Given the description of an element on the screen output the (x, y) to click on. 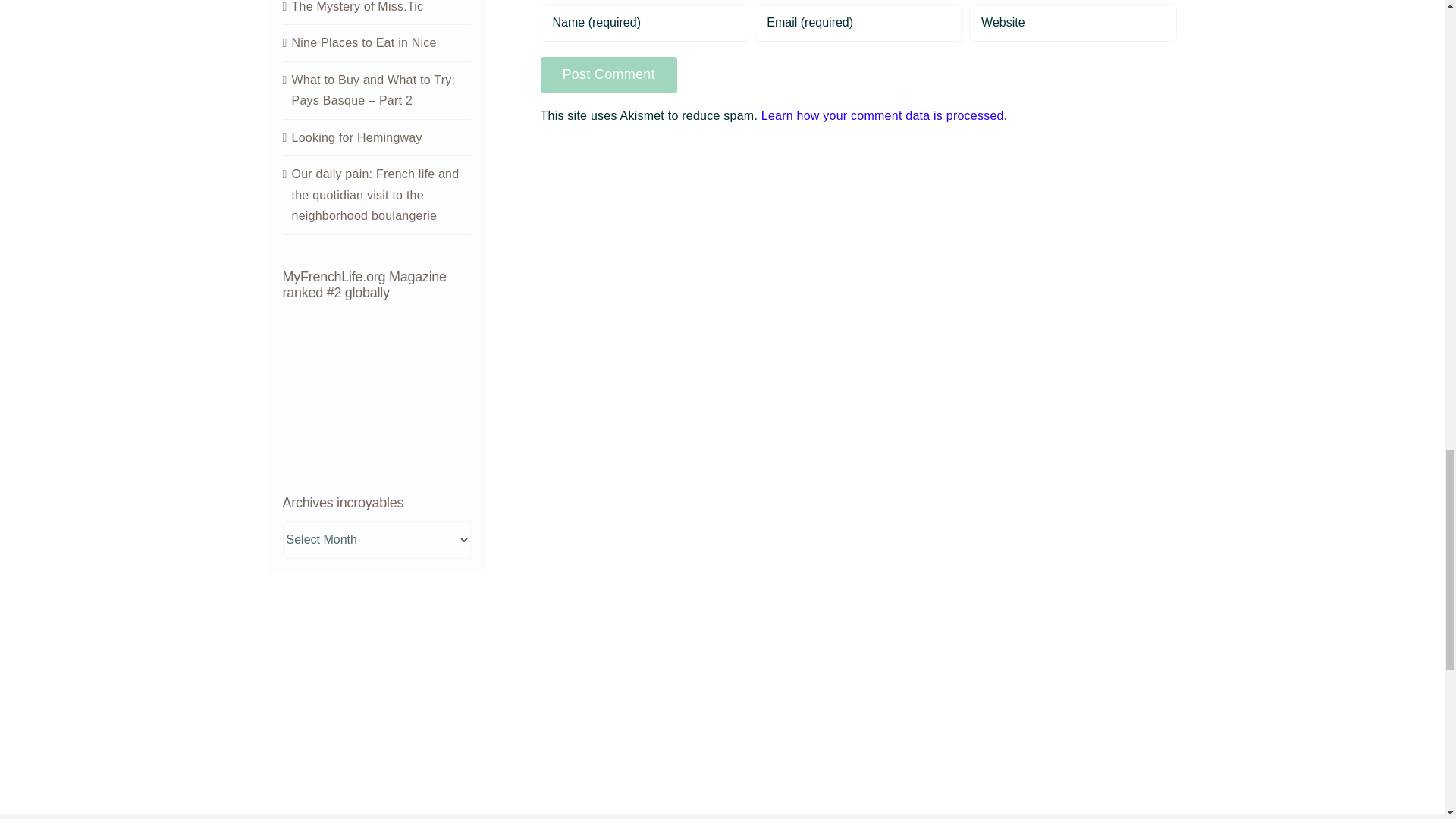
Learn how your comment data is processed (882, 115)
Post Comment (608, 74)
Post Comment (608, 74)
